Given the description of an element on the screen output the (x, y) to click on. 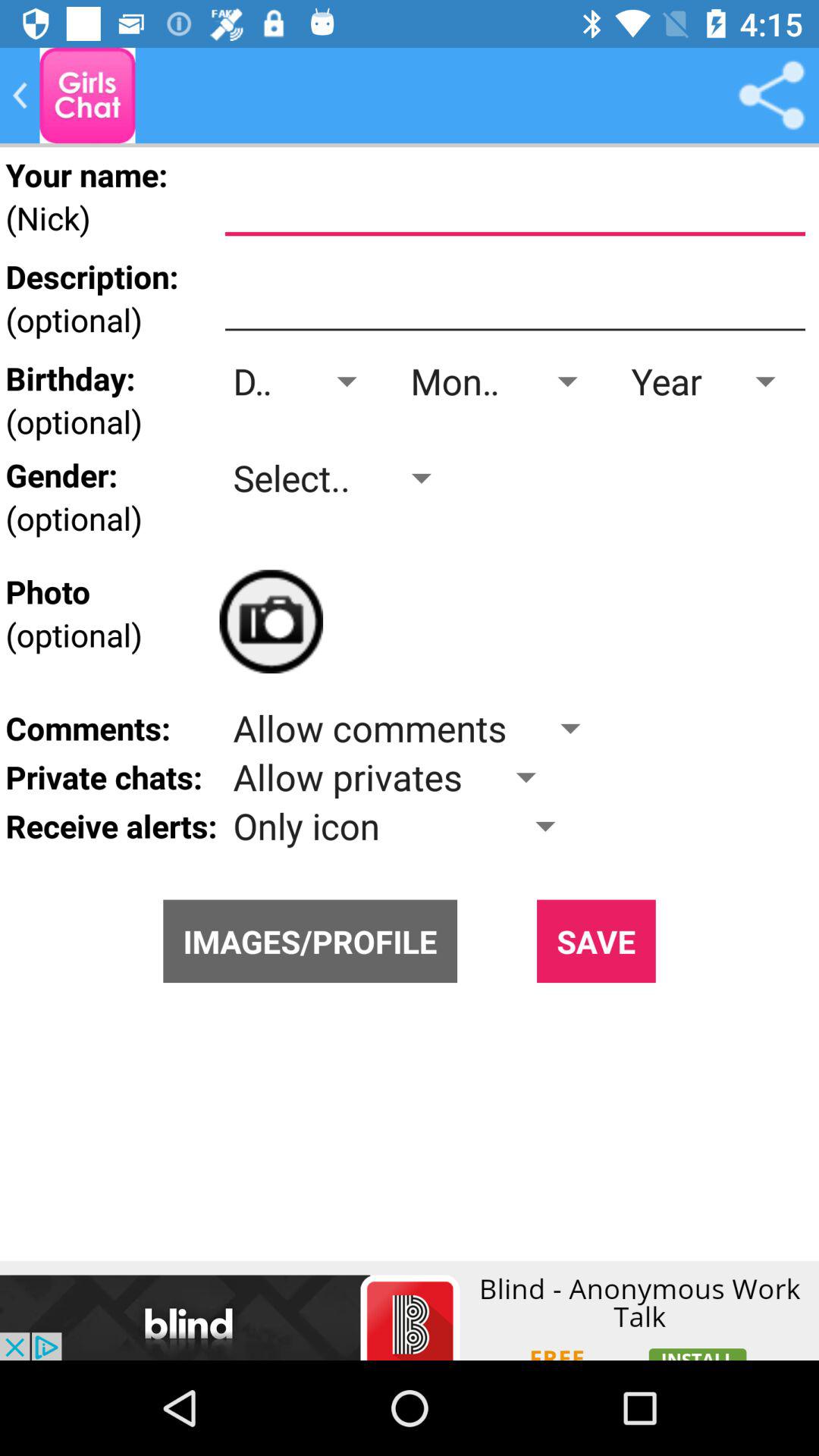
see the advertising (409, 1310)
